Given the description of an element on the screen output the (x, y) to click on. 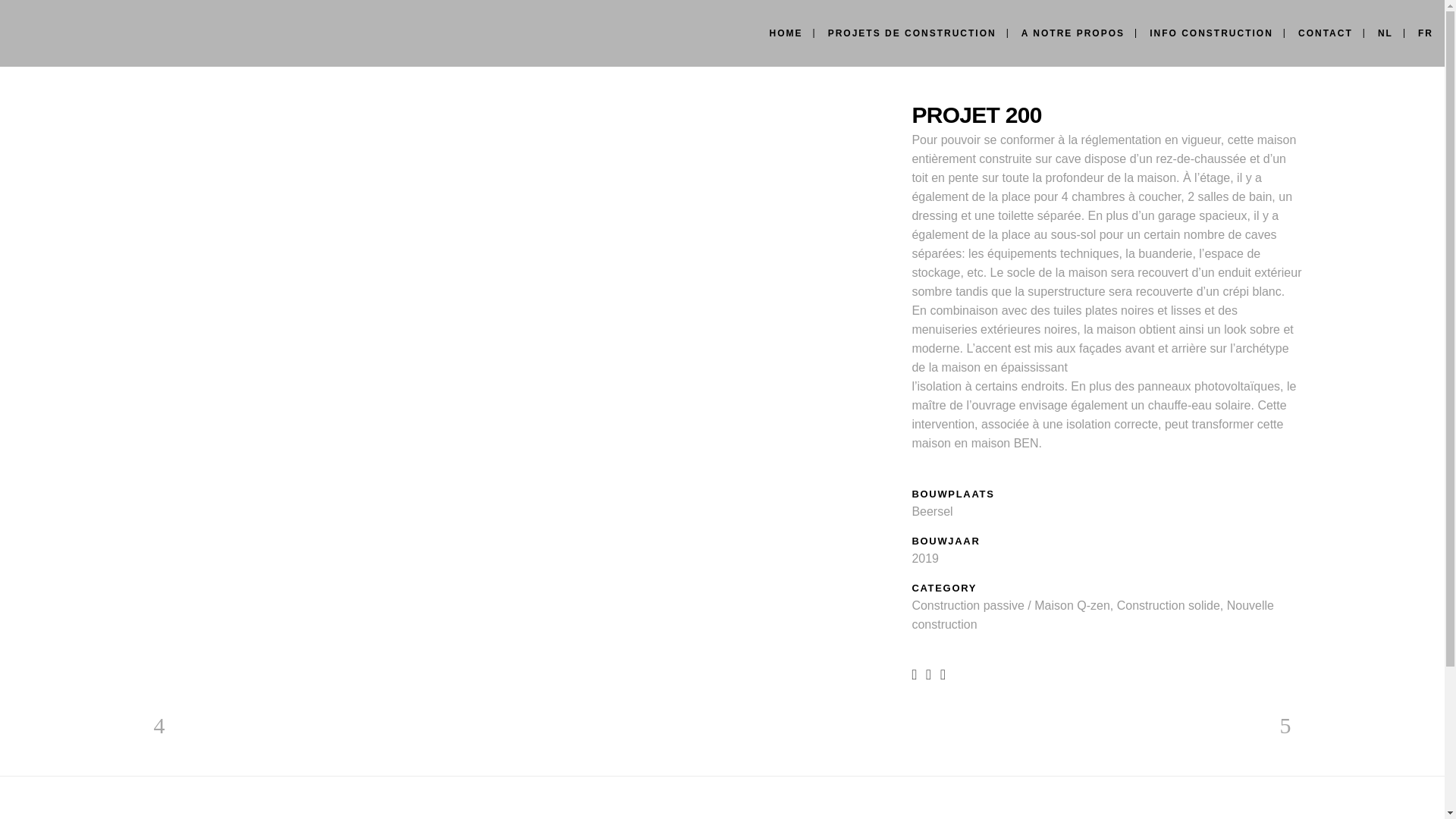
INFO CONSTRUCTION Element type: text (1211, 33)
01 Element type: hover (524, 100)
NL Element type: text (1385, 33)
Share on Facebook Element type: hover (913, 673)
Share on Pinterest Element type: hover (942, 673)
04 Element type: hover (524, 143)
PROJETS DE CONSTRUCTION Element type: text (911, 33)
02 Element type: hover (524, 114)
FR Element type: text (1425, 33)
HOME Element type: text (786, 33)
05 Element type: hover (524, 157)
03 Element type: hover (524, 128)
Share on Twitter Element type: hover (928, 673)
06 Element type: hover (524, 172)
A NOTRE PROPOS Element type: text (1072, 33)
CONTACT Element type: text (1325, 33)
